Given the description of an element on the screen output the (x, y) to click on. 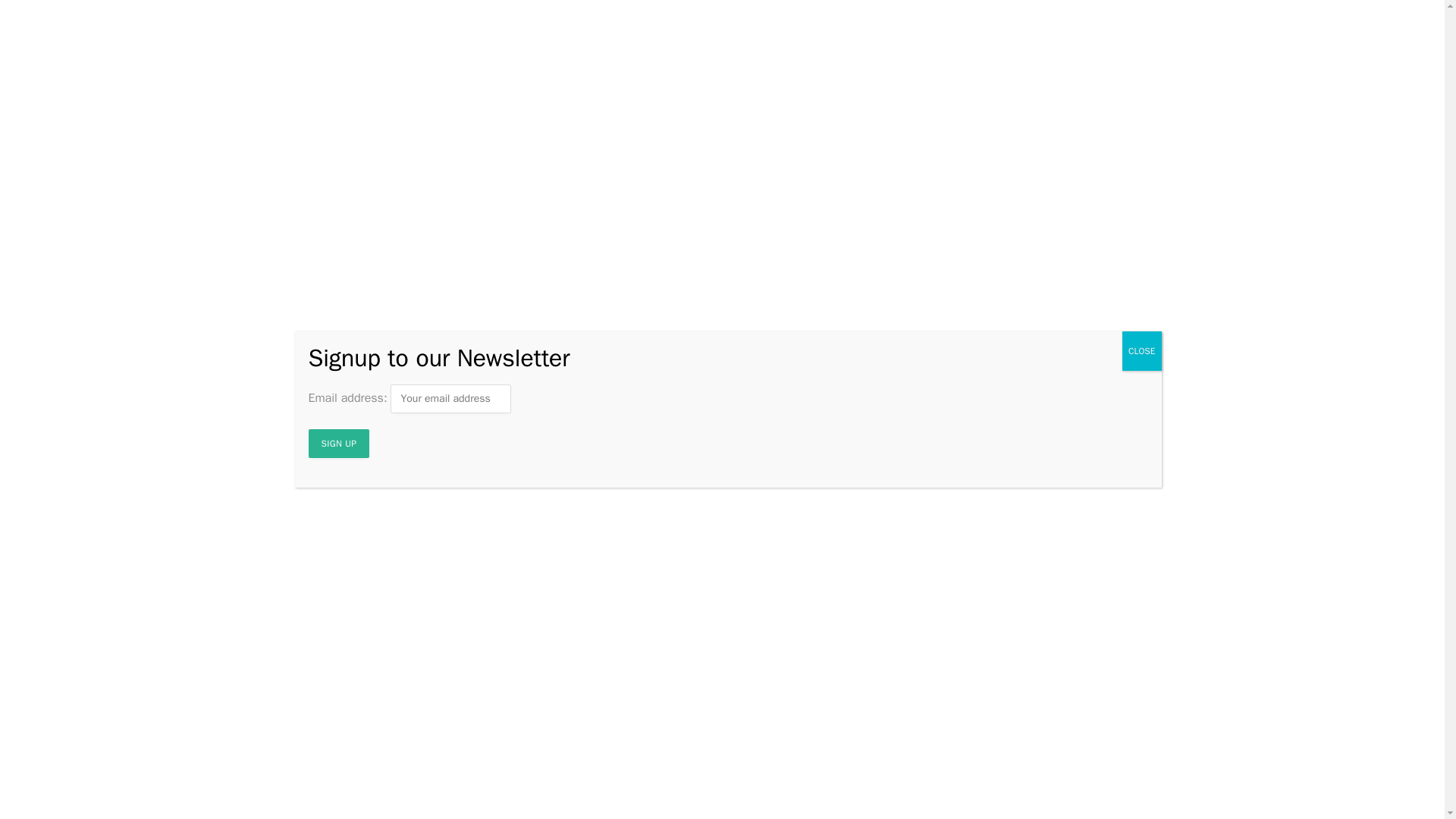
Show More Social Sharing (611, 346)
Share on Facebook (319, 346)
Share on Pinterest (539, 346)
IT NEWS NIGERIA (721, 83)
Sign up (338, 443)
Posts by IT NEWS NIGERIA (347, 304)
